Given the description of an element on the screen output the (x, y) to click on. 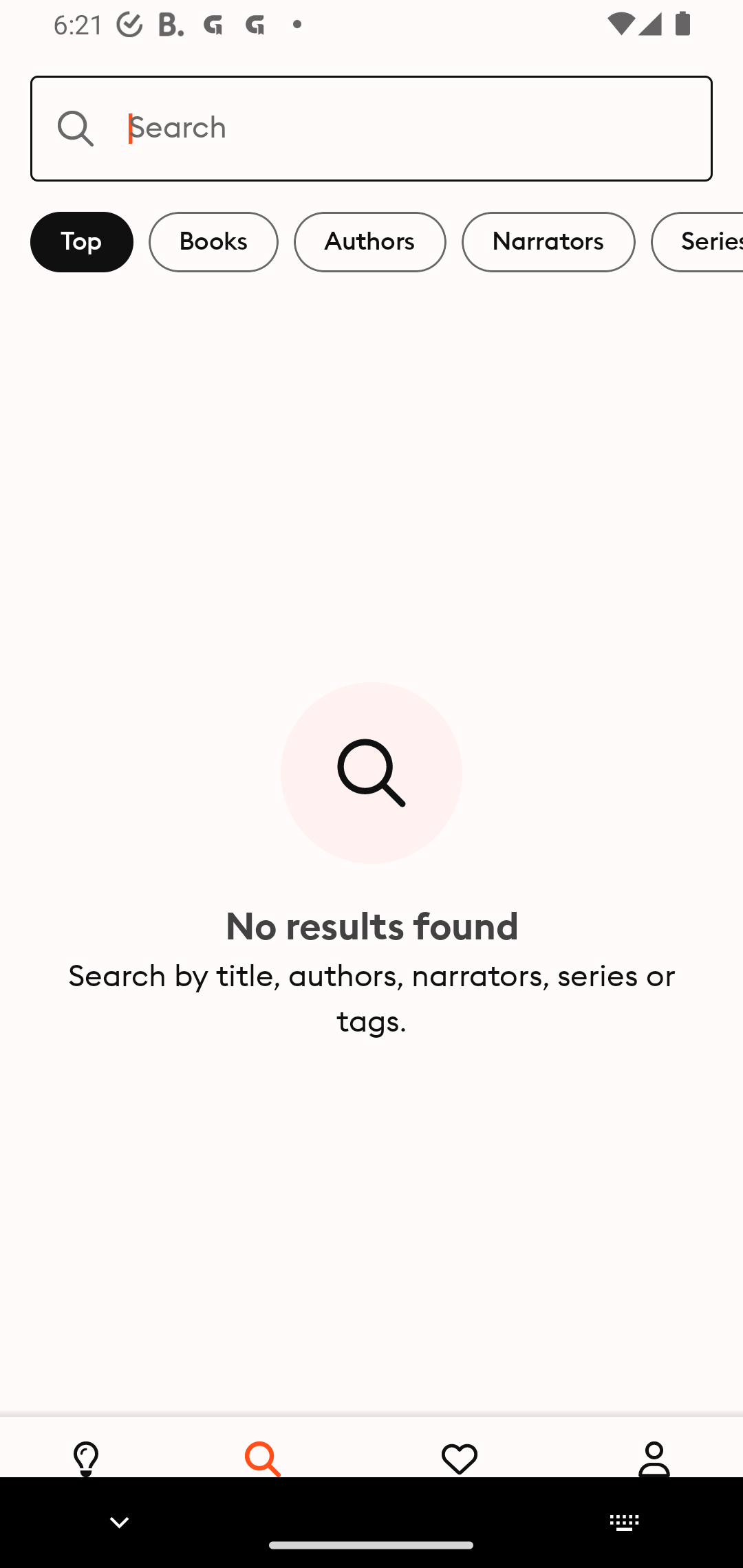
Search (371, 128)
Top (81, 241)
Books (213, 241)
Authors (369, 241)
Narrators (548, 241)
Series (696, 241)
